Given the description of an element on the screen output the (x, y) to click on. 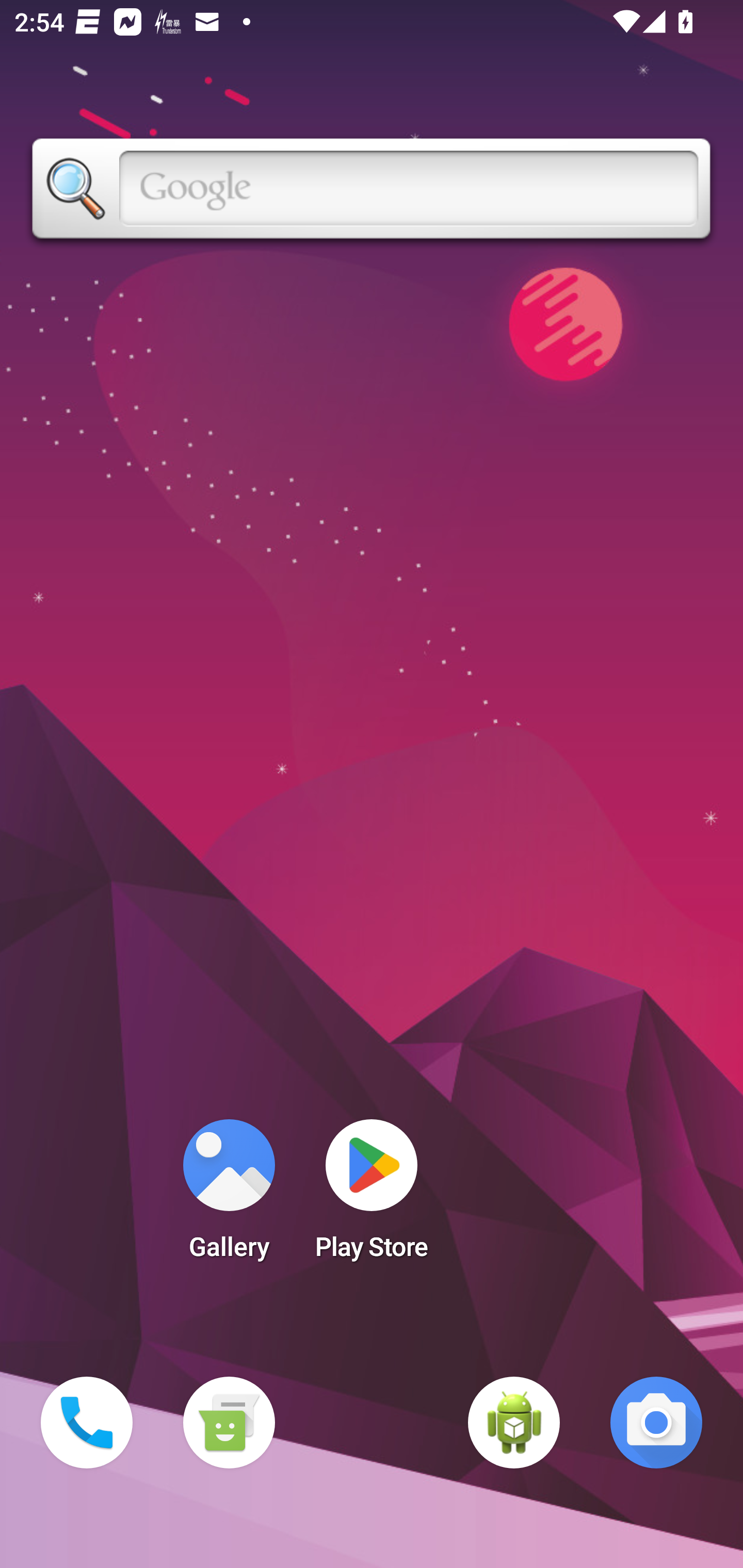
Gallery (228, 1195)
Play Store (371, 1195)
Phone (86, 1422)
Messaging (228, 1422)
WebView Browser Tester (513, 1422)
Camera (656, 1422)
